Given the description of an element on the screen output the (x, y) to click on. 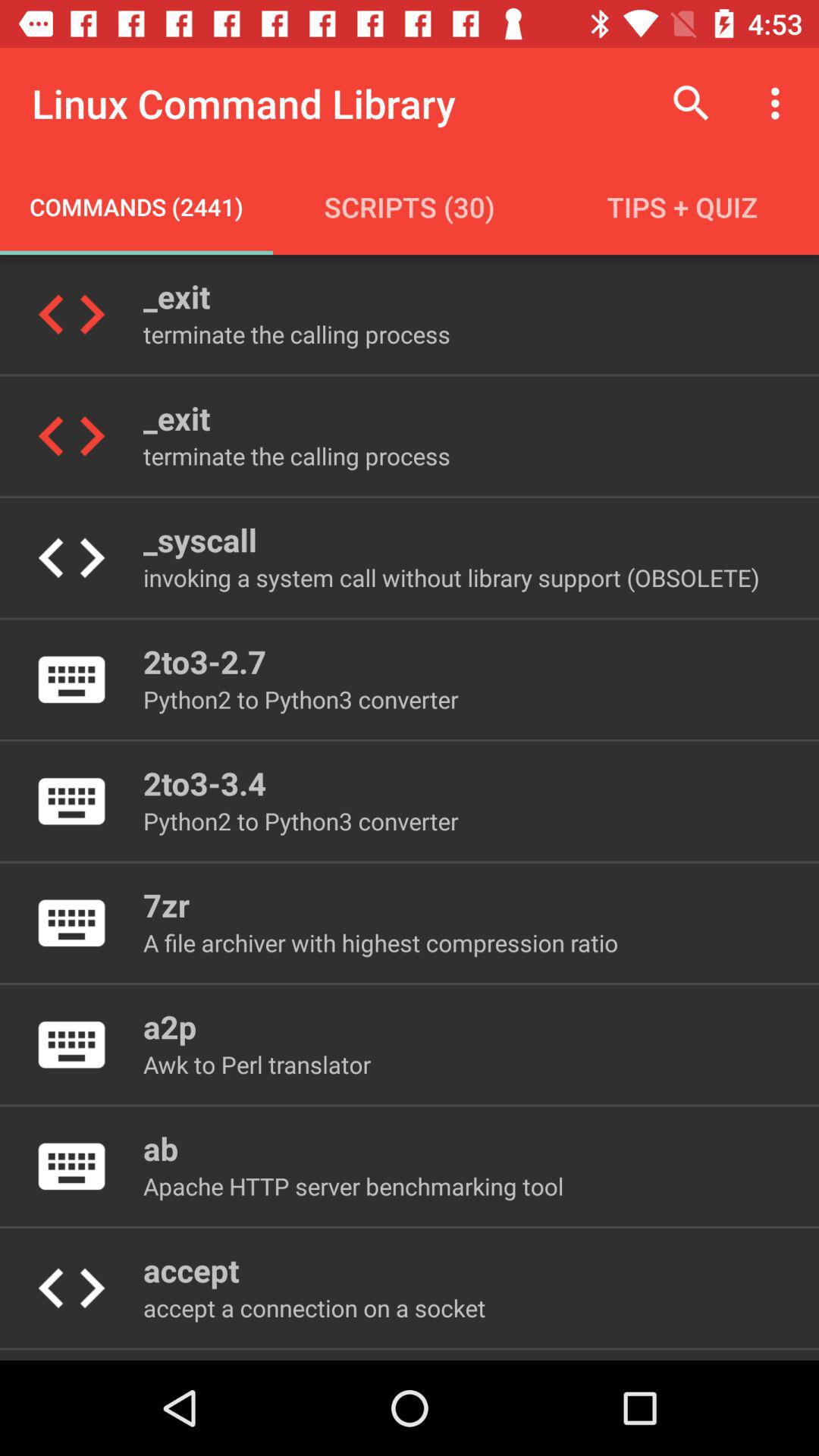
tap the item below the _syscall item (451, 577)
